Given the description of an element on the screen output the (x, y) to click on. 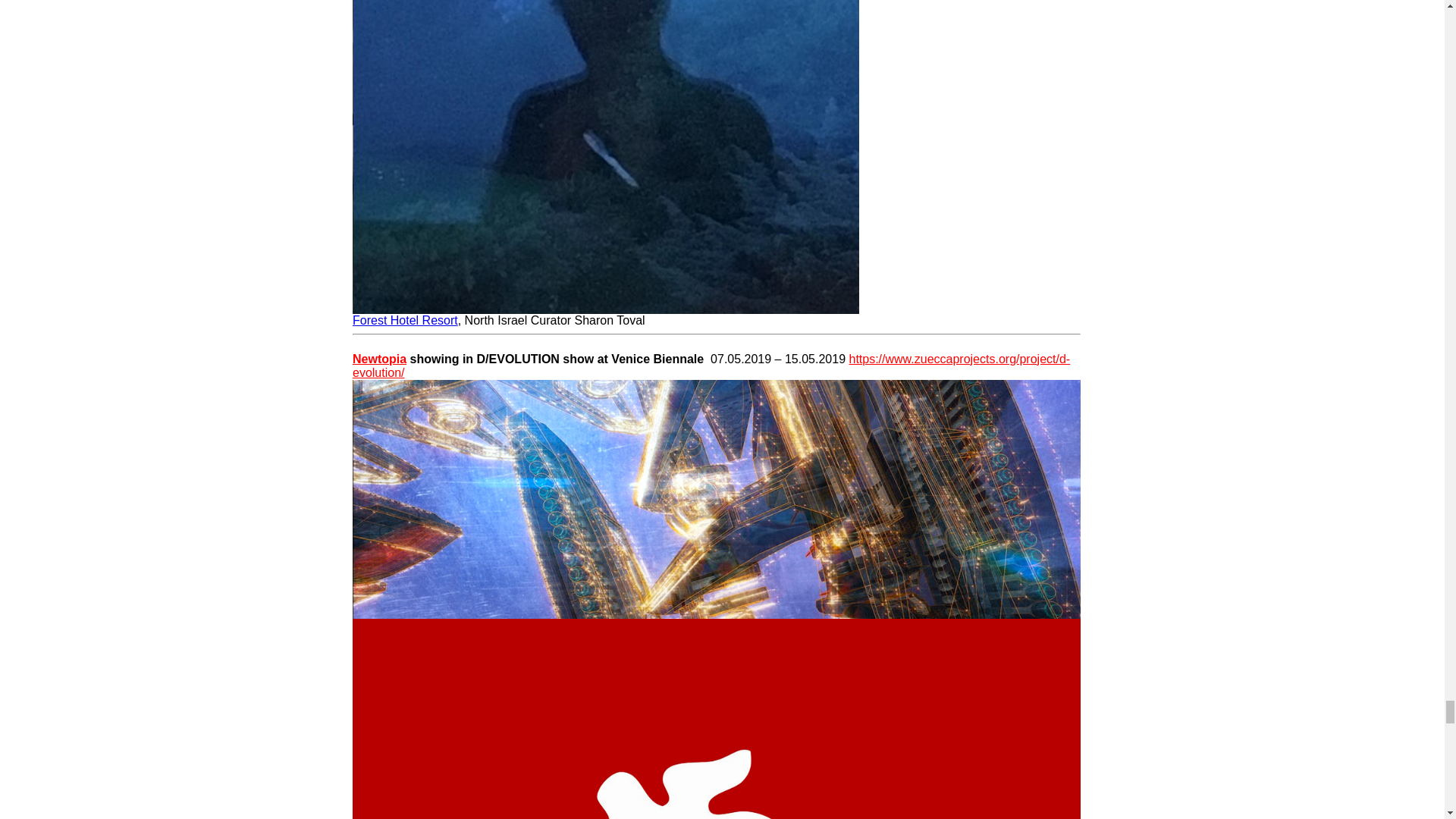
Page 1 (716, 360)
